Given the description of an element on the screen output the (x, y) to click on. 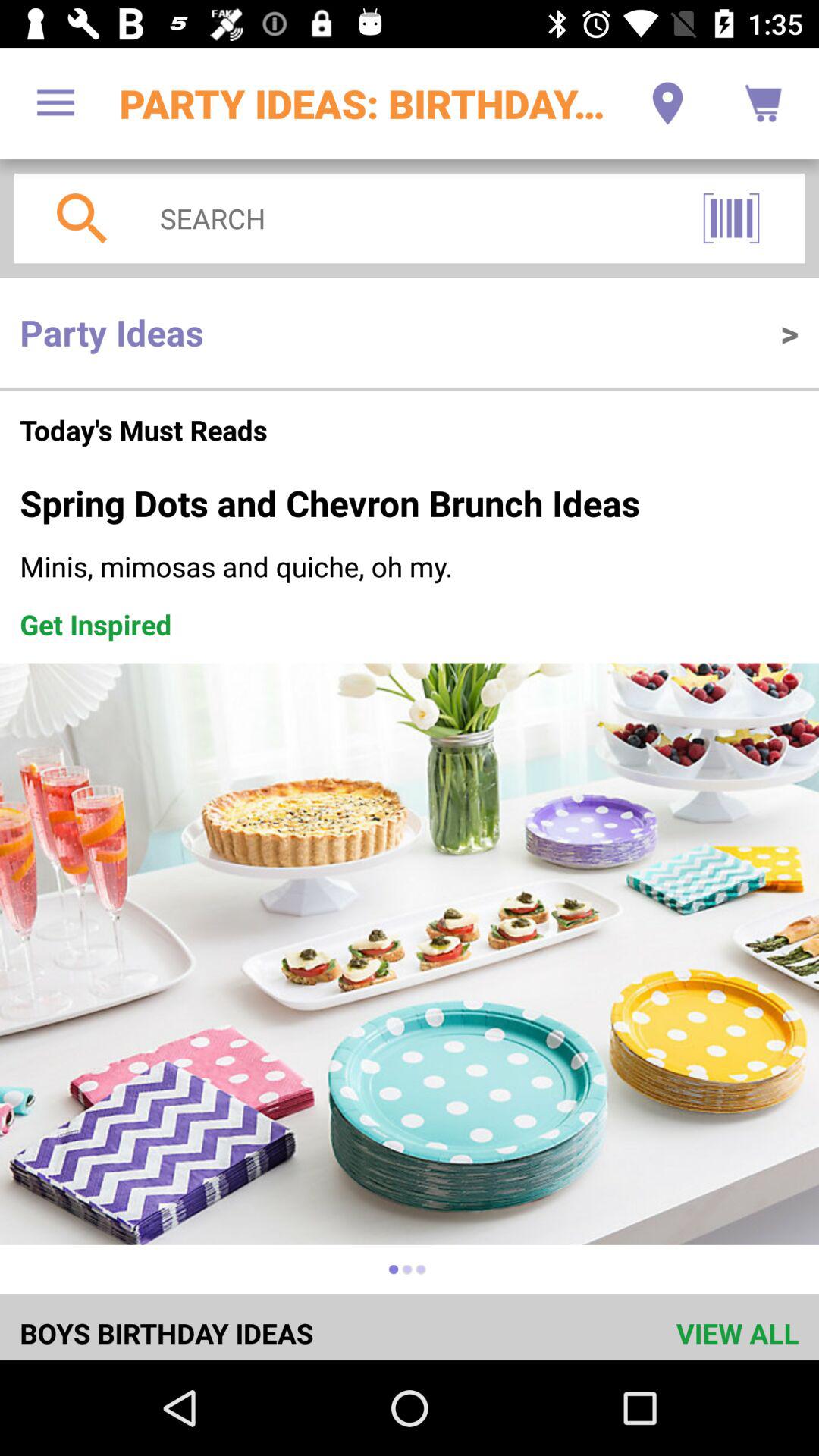
turn off the item below the spring dots and (409, 566)
